Given the description of an element on the screen output the (x, y) to click on. 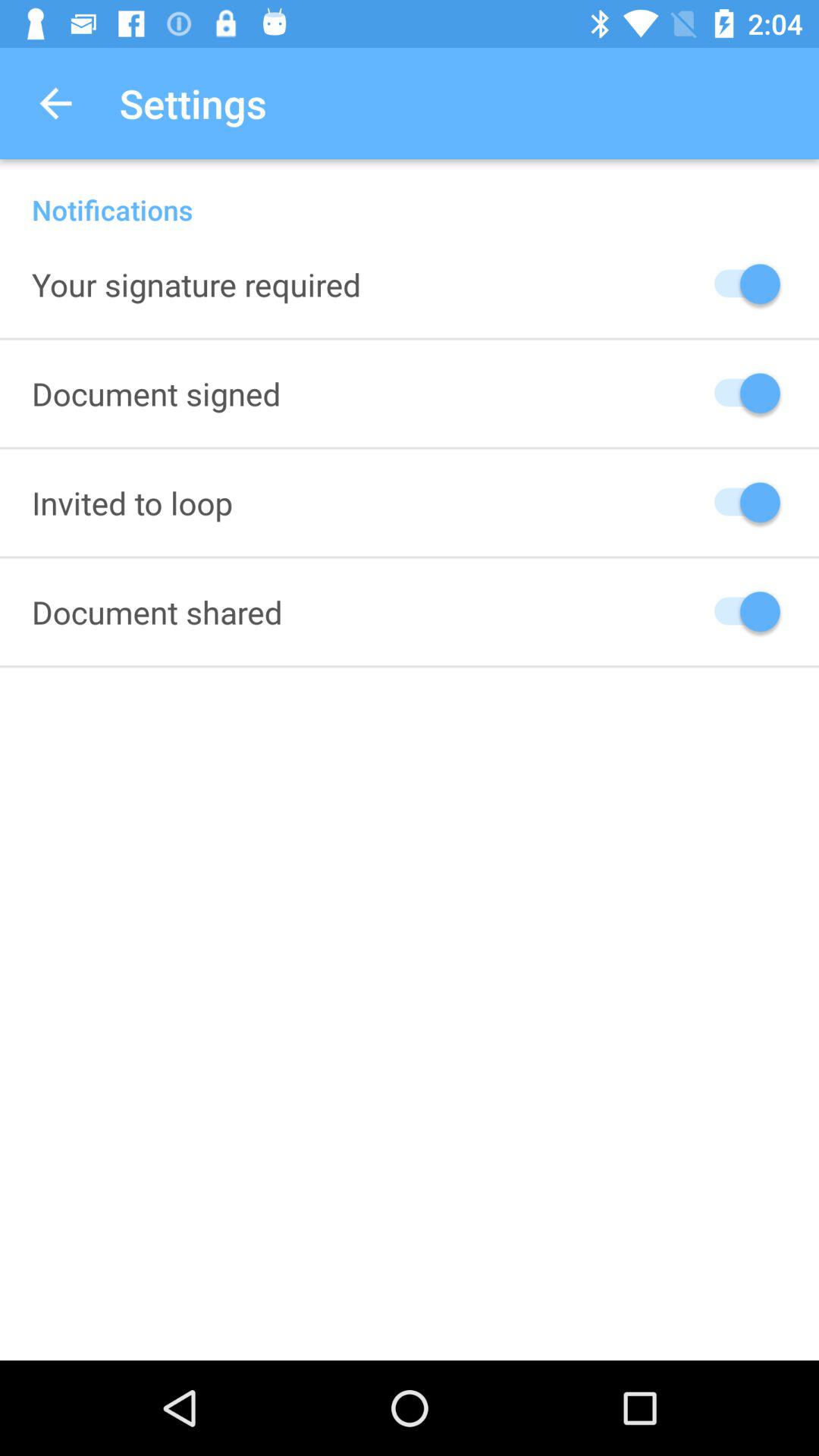
scroll until notifications item (409, 193)
